Given the description of an element on the screen output the (x, y) to click on. 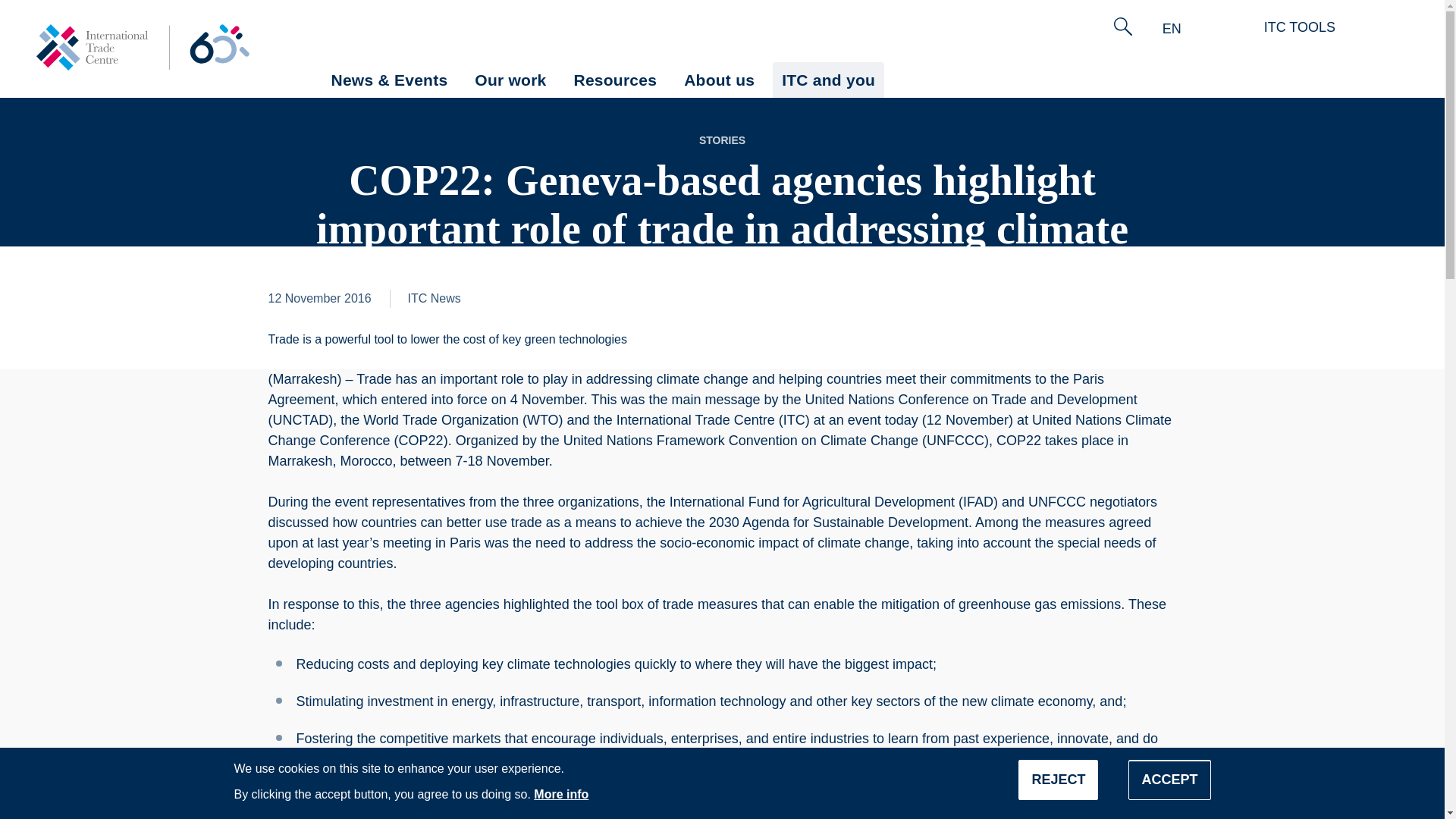
ACCEPT (1168, 780)
REJECT (1057, 780)
Login (1379, 27)
Privacy settings (49, 806)
More info (561, 793)
